Given the description of an element on the screen output the (x, y) to click on. 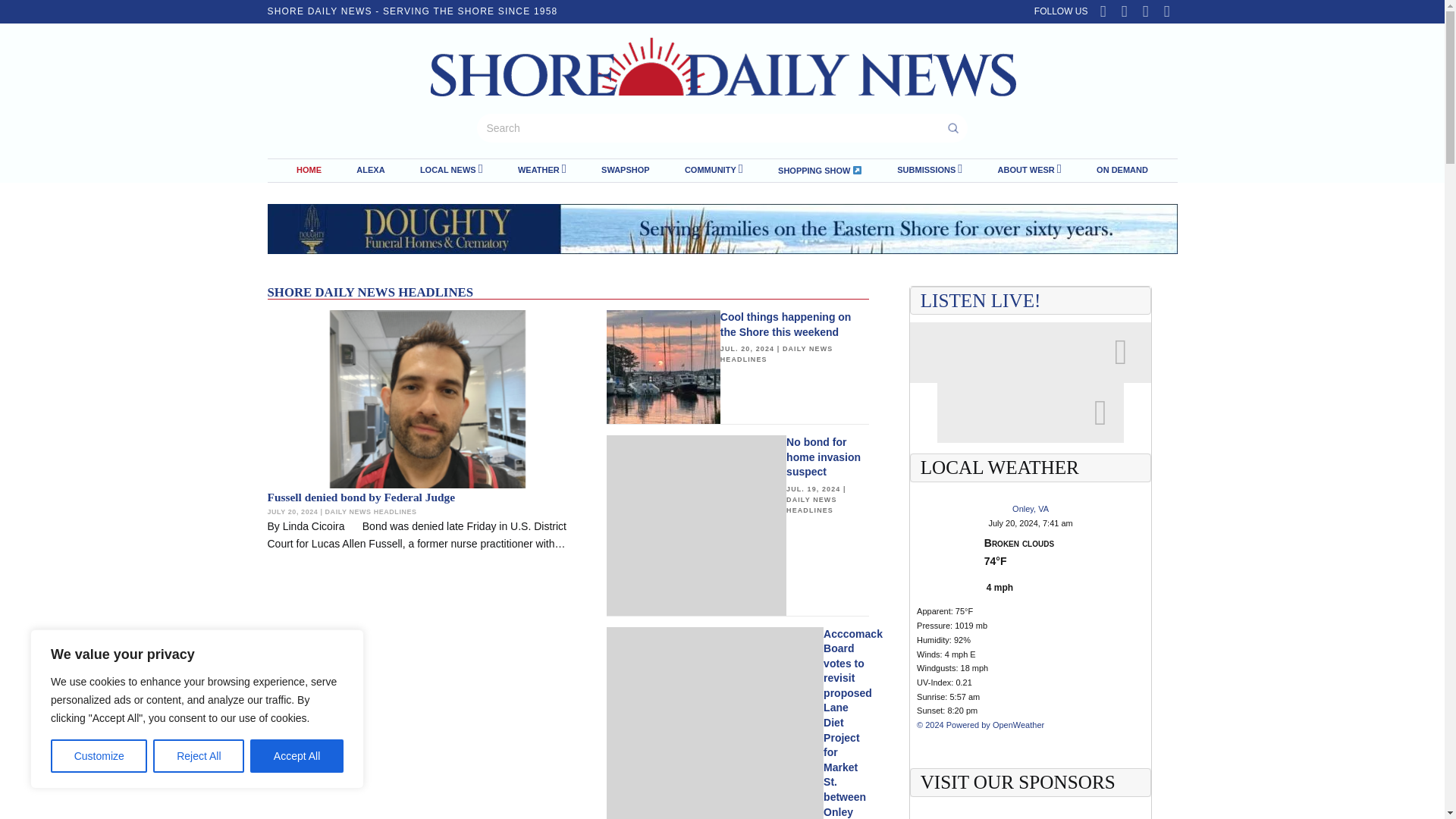
Accept All (296, 756)
Customize (98, 756)
Reject All (198, 756)
